Given the description of an element on the screen output the (x, y) to click on. 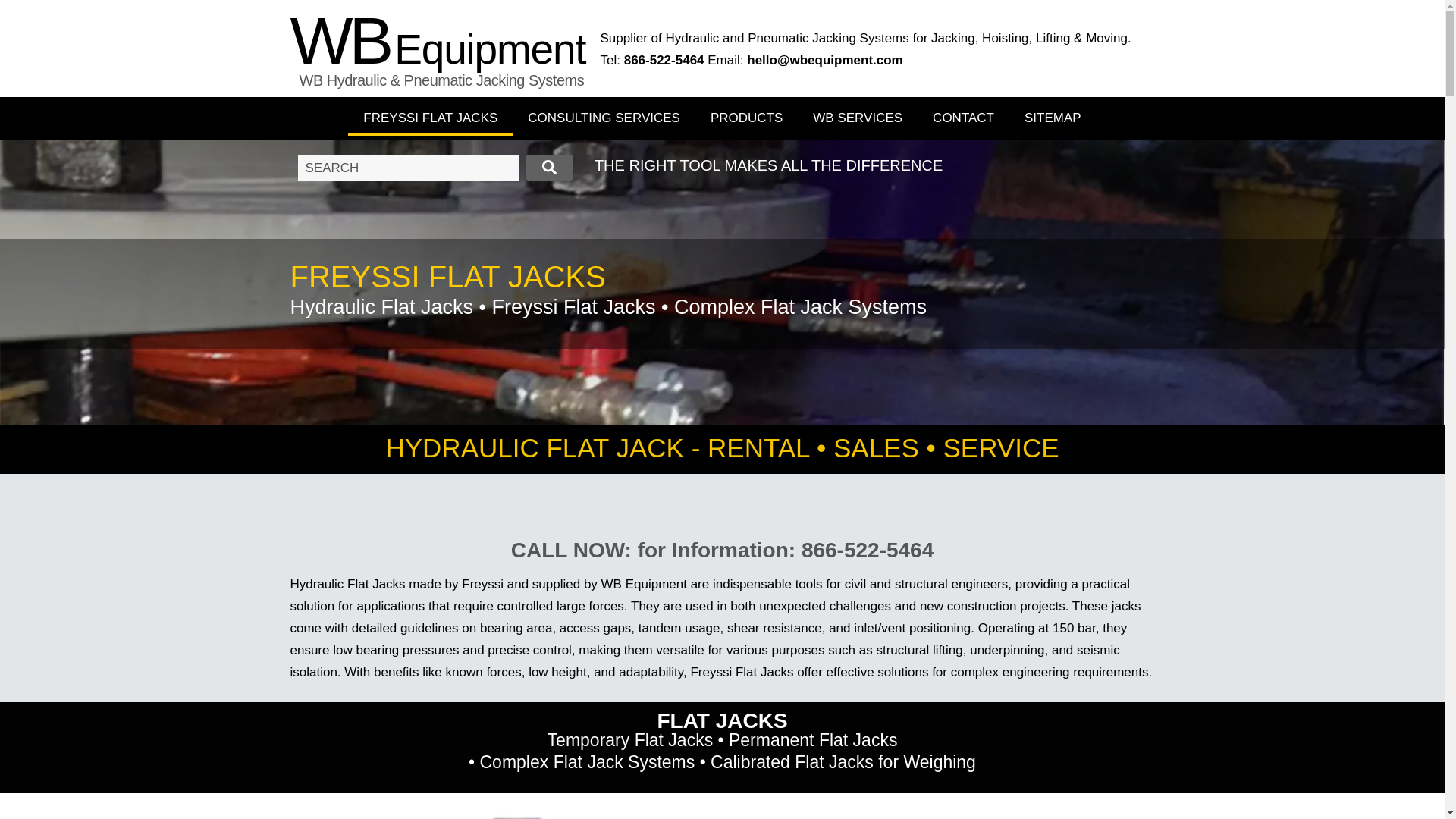
Equipment (489, 48)
WB (339, 40)
FREYSSI FLAT JACKS (429, 117)
CONSULTING SERVICES (603, 117)
866-522-5464 (664, 60)
PRODUCTS (746, 117)
WB SERVICES (857, 117)
